Given the description of an element on the screen output the (x, y) to click on. 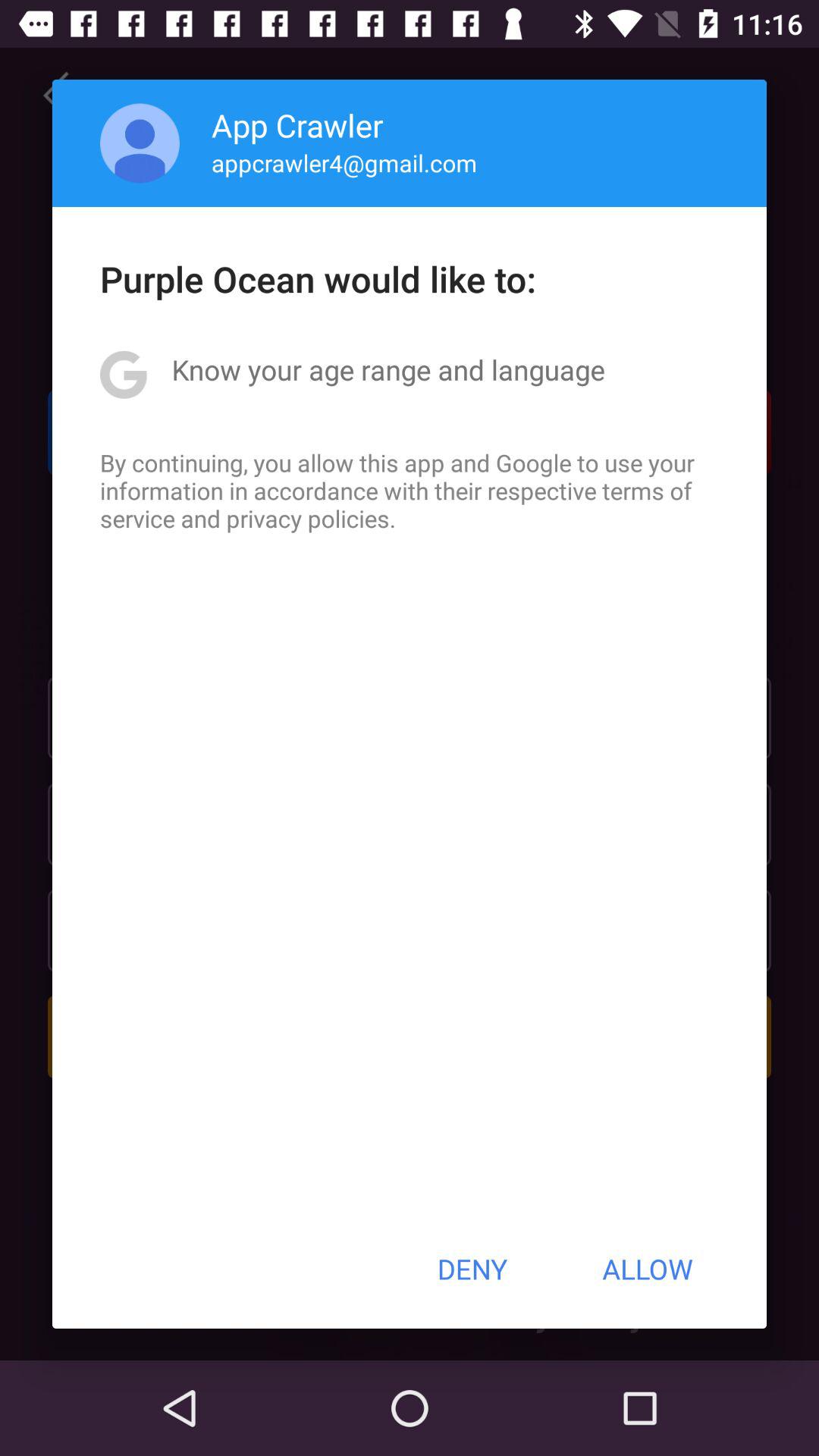
tap the know your age app (388, 369)
